Given the description of an element on the screen output the (x, y) to click on. 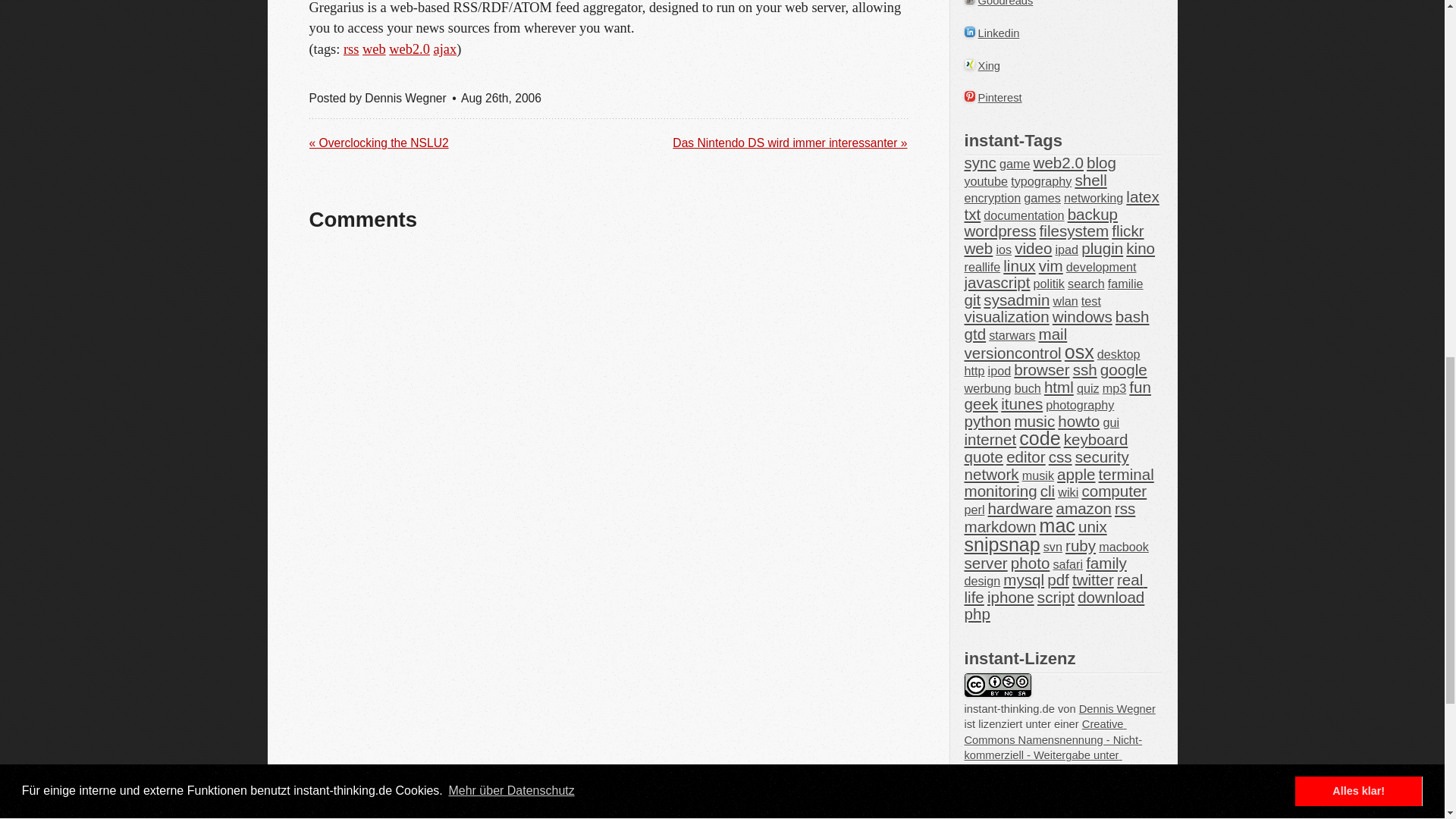
ajax (445, 48)
rss (350, 48)
web (373, 48)
web2.0 (408, 48)
Previous Post: Overclocking the NSLU2 (378, 142)
next Post: Das Nintendo DS wird immer interessanter (789, 142)
